Given the description of an element on the screen output the (x, y) to click on. 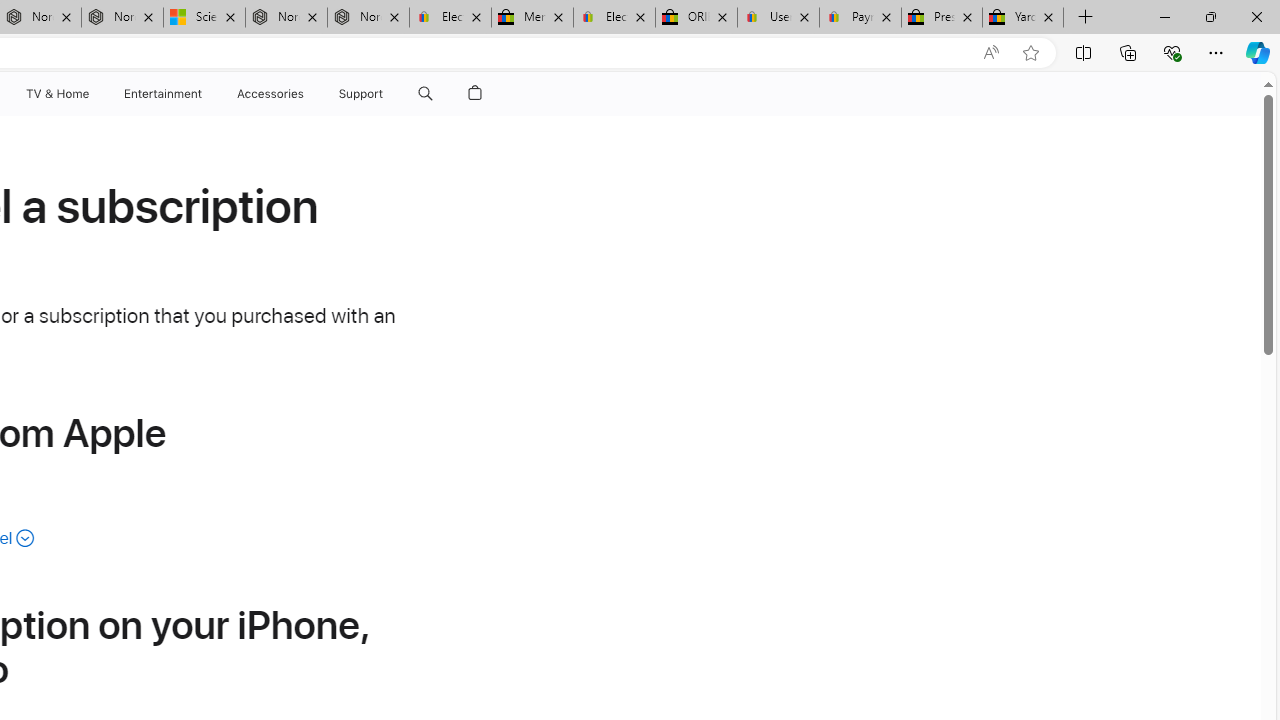
TV & Home (56, 93)
Class: globalnav-submenu-trigger-item (387, 93)
Electronics, Cars, Fashion, Collectibles & More | eBay (614, 17)
Restore (1210, 16)
Nordace - FAQ (368, 17)
Support (361, 93)
Close (1256, 16)
TV and Home (56, 93)
New Tab (1085, 17)
Press Room - eBay Inc. (941, 17)
Search Support (425, 93)
Minimize (1164, 16)
Shopping Bag (475, 93)
TV and Home menu (92, 93)
